Given the description of an element on the screen output the (x, y) to click on. 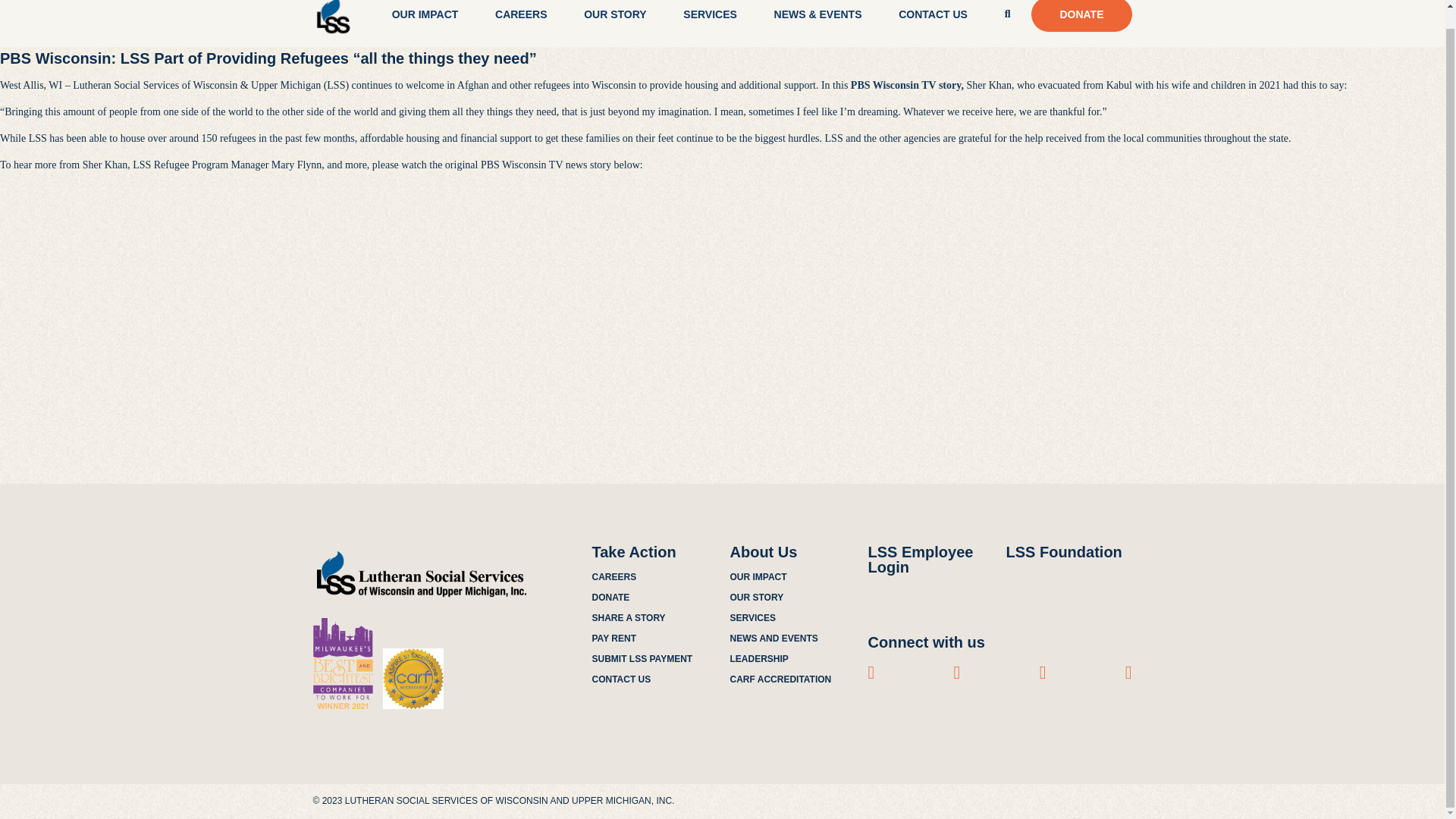
OUR STORY (614, 14)
DONATE (1080, 15)
OUR IMPACT (424, 14)
SERVICES (709, 14)
CAREERS (521, 14)
CONTACT US (933, 14)
